Given the description of an element on the screen output the (x, y) to click on. 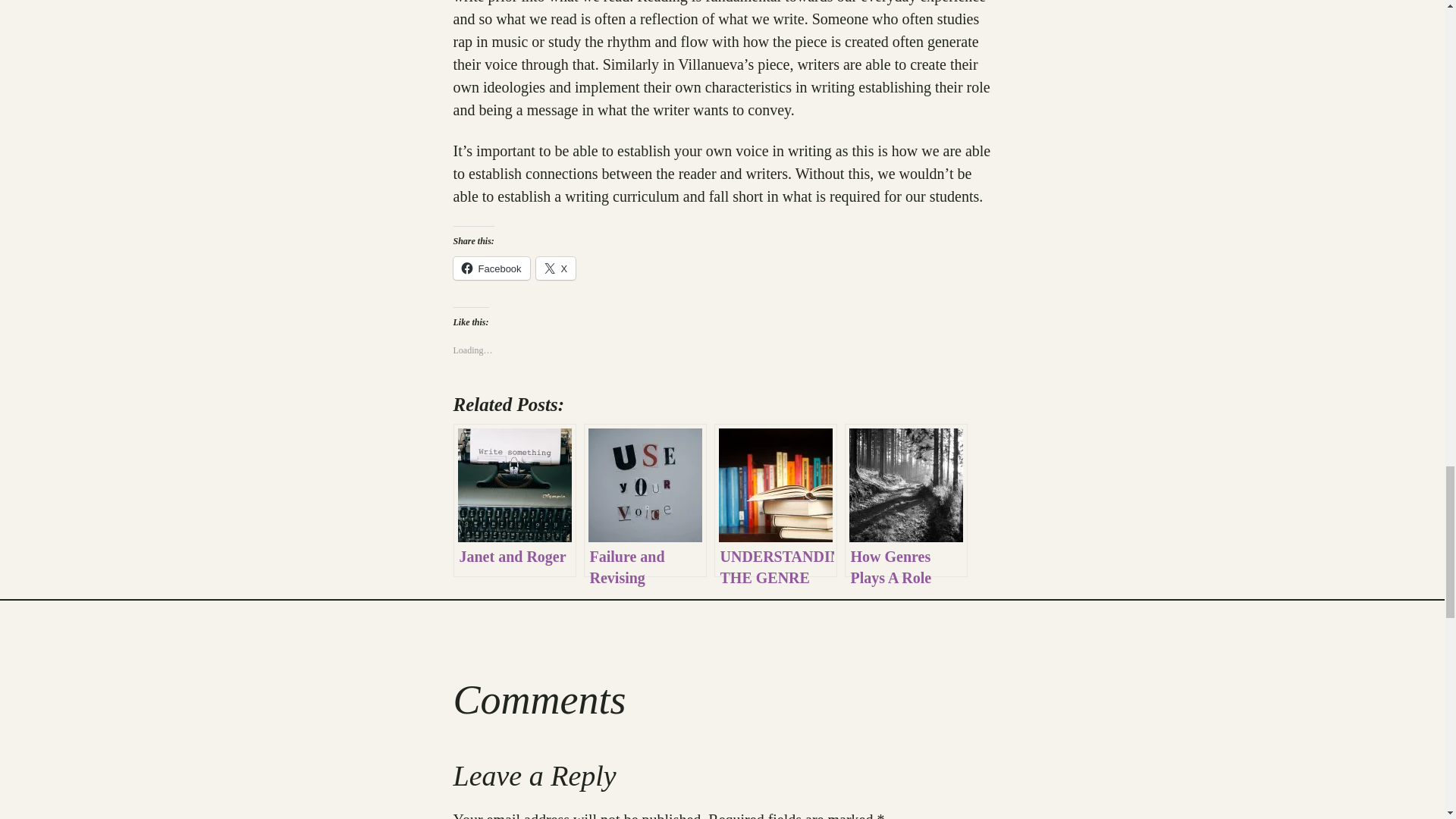
Click to share on Facebook (490, 268)
Facebook (490, 268)
Click to share on X (555, 268)
X (555, 268)
